Given the description of an element on the screen output the (x, y) to click on. 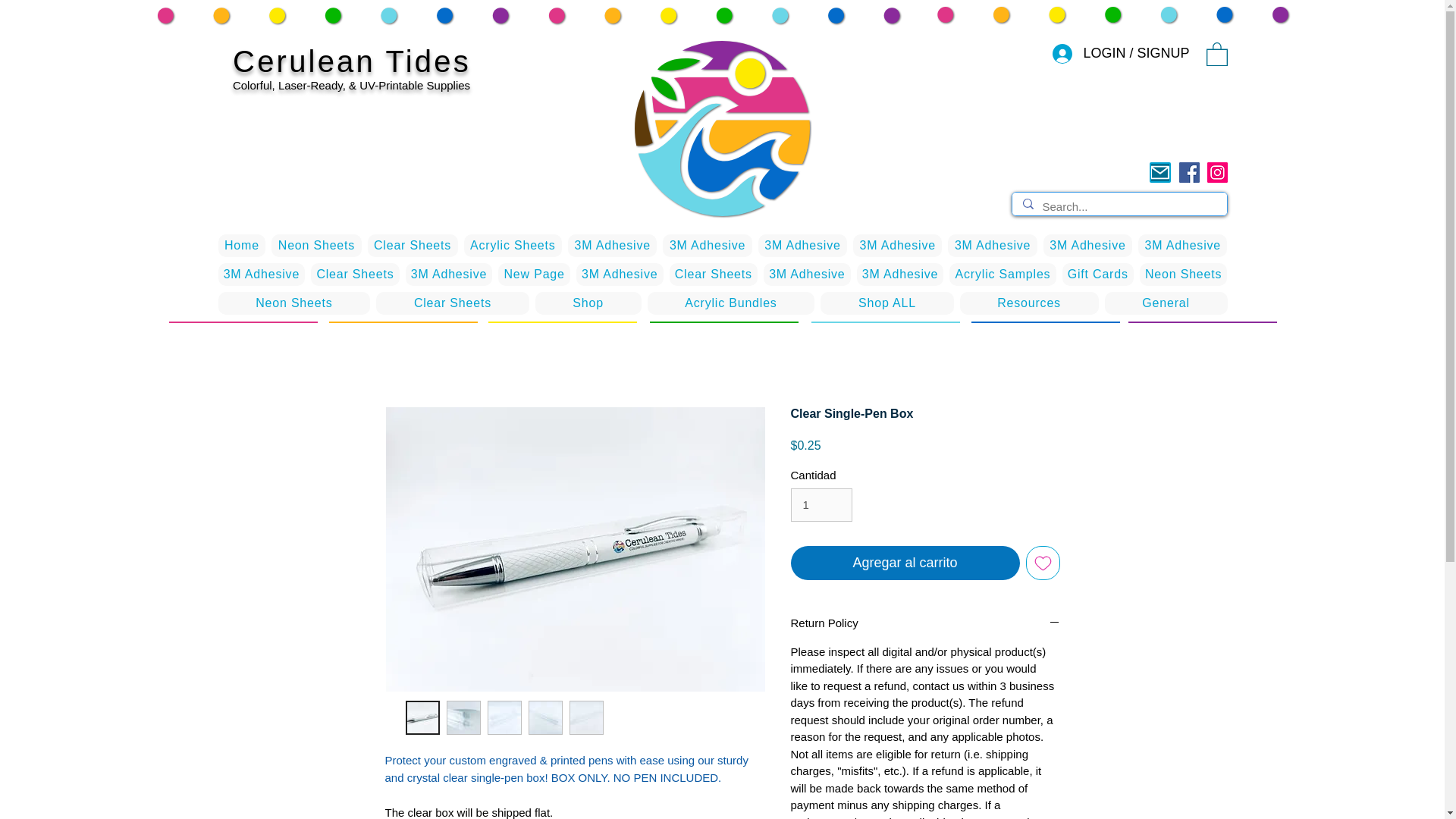
3M Adhesive (706, 245)
3M Adhesive (611, 245)
Clear Sheets (413, 245)
1 (820, 504)
Cerulean Tides (351, 61)
Acrylic Sheets (513, 245)
Neon Sheets (315, 245)
Home (242, 245)
